Given the description of an element on the screen output the (x, y) to click on. 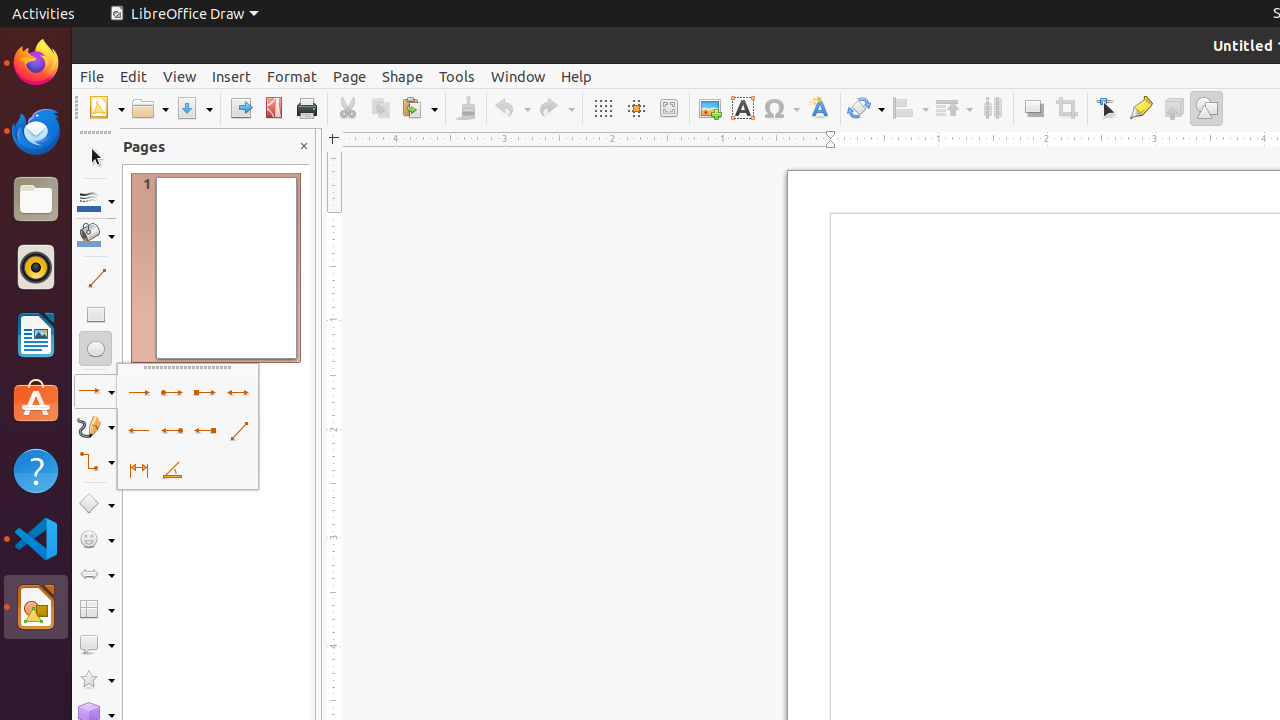
Print Element type: push-button (306, 108)
View Element type: menu (179, 76)
New Element type: push-button (106, 108)
Align Element type: push-button (910, 108)
